Given the description of an element on the screen output the (x, y) to click on. 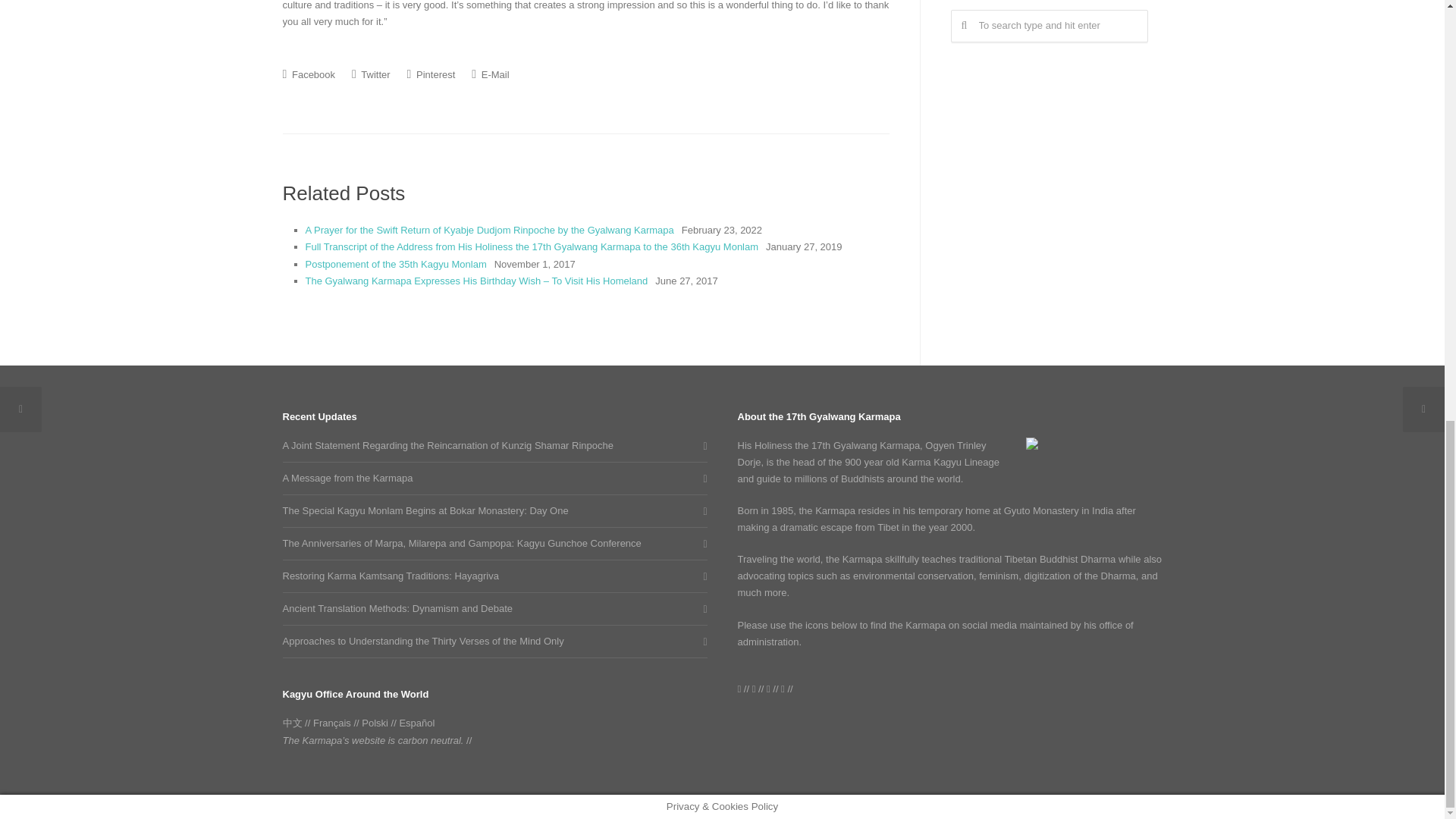
Share via Twitter (371, 73)
Share via Pinterest (431, 73)
Link to Postponement of the 35th Kagyu Monlam (395, 264)
Share via Facebook (308, 73)
To search type and hit enter (1049, 25)
Share via E-Mail (489, 73)
